Given the description of an element on the screen output the (x, y) to click on. 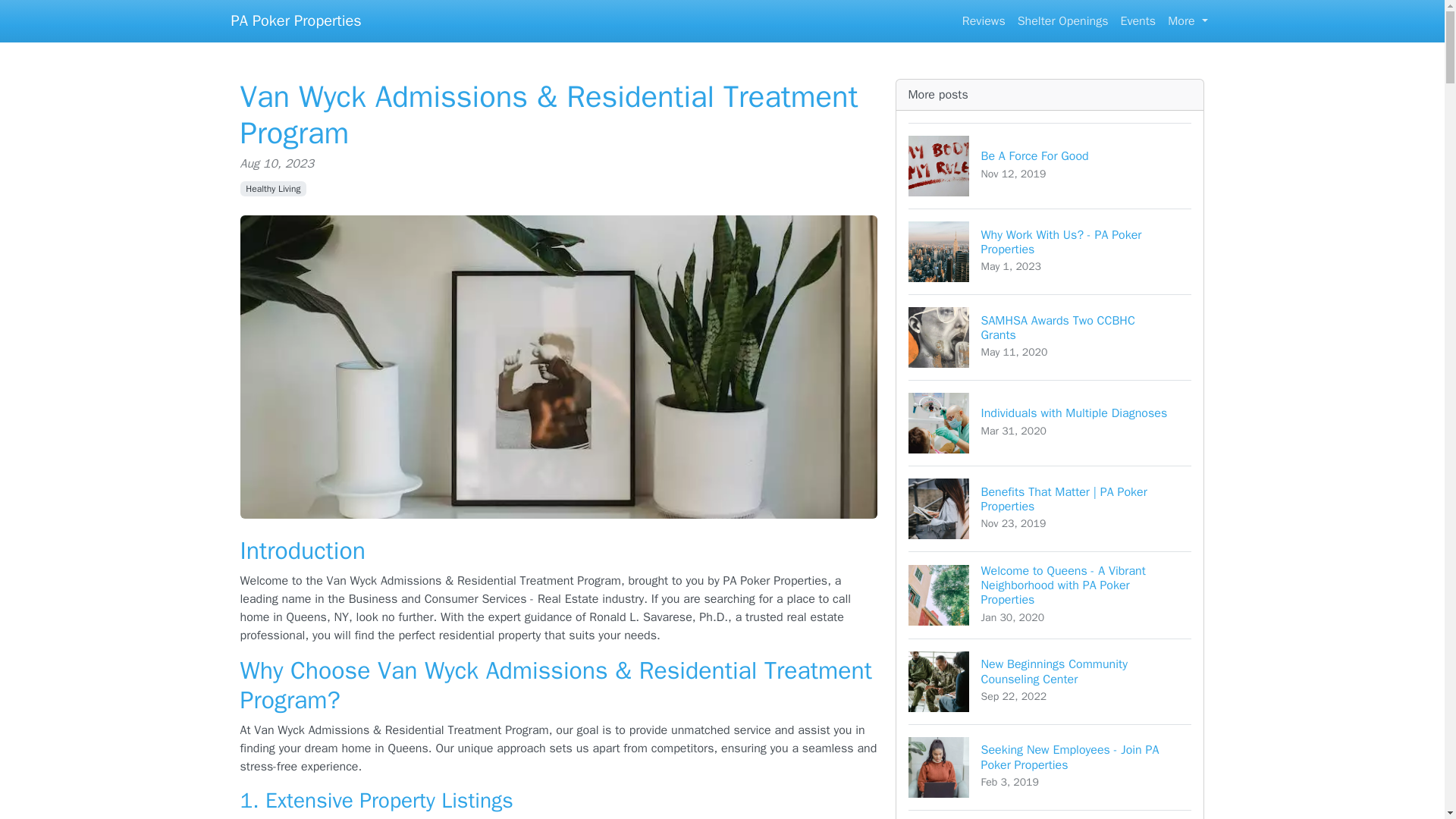
Healthy Living (1050, 680)
Events (1050, 814)
Shelter Openings (1050, 766)
More (1050, 423)
PA Poker Properties (272, 188)
Reviews (1138, 20)
